Given the description of an element on the screen output the (x, y) to click on. 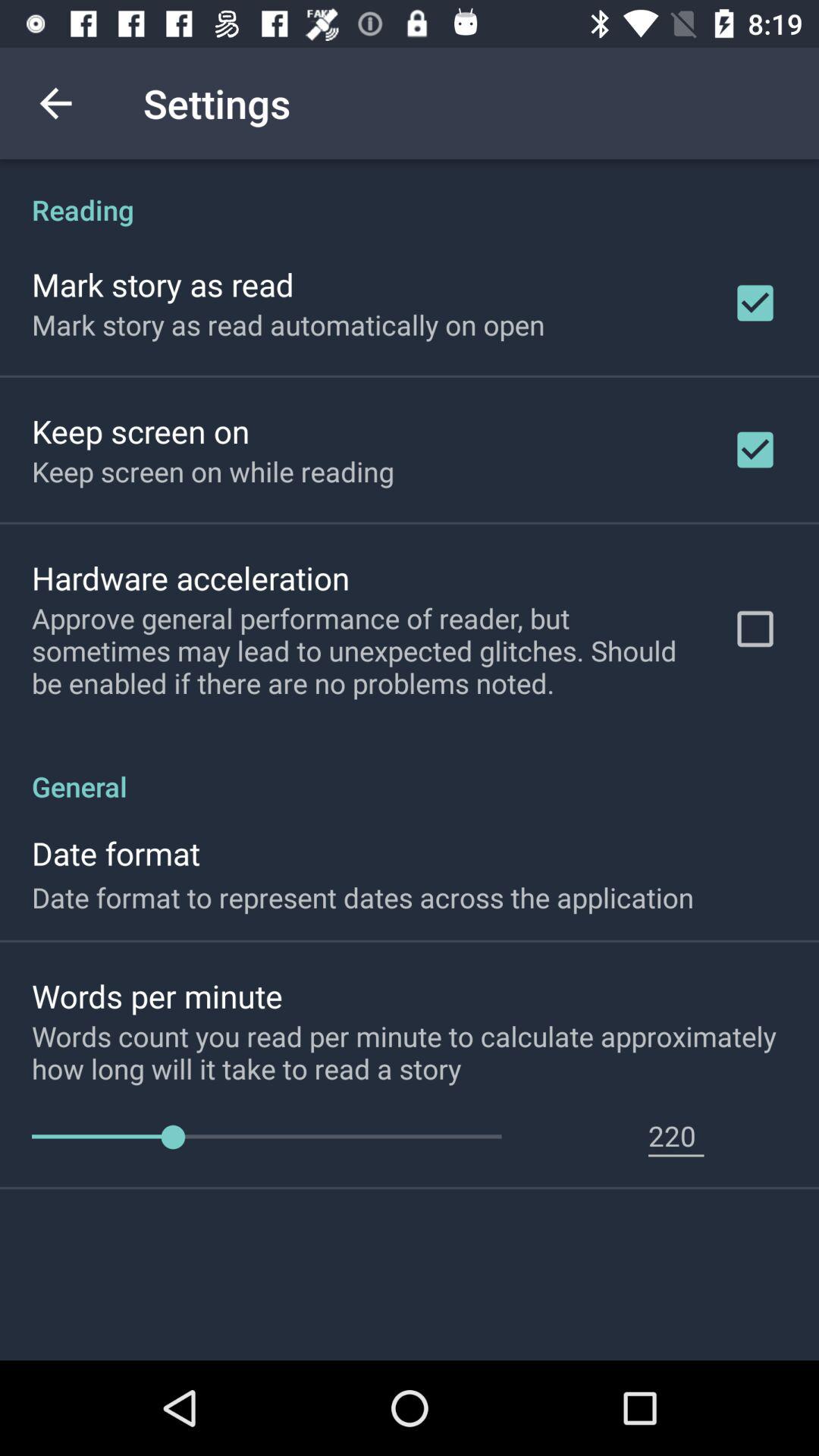
open item below the hardware acceleration item (361, 650)
